Given the description of an element on the screen output the (x, y) to click on. 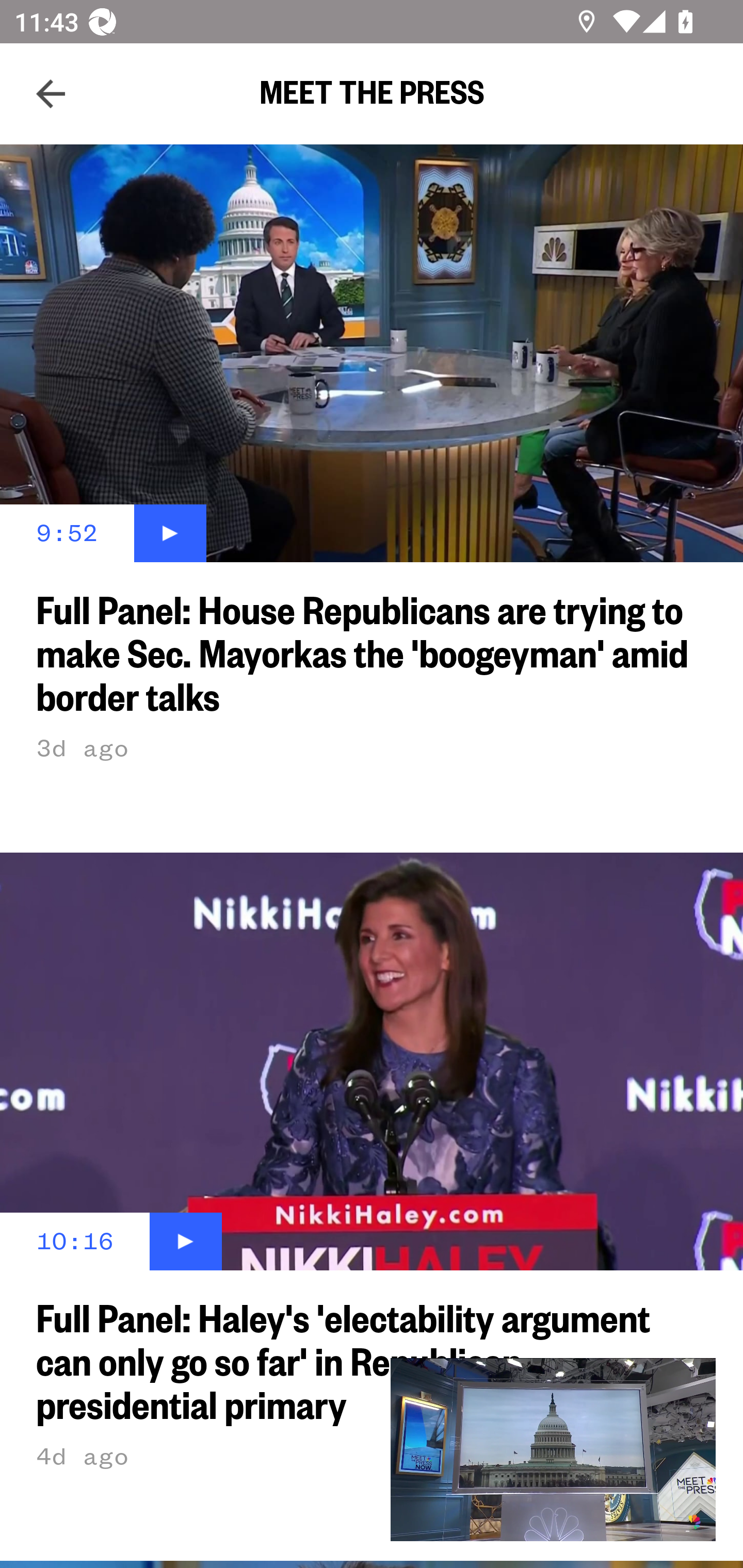
Navigate up (50, 93)
